Given the description of an element on the screen output the (x, y) to click on. 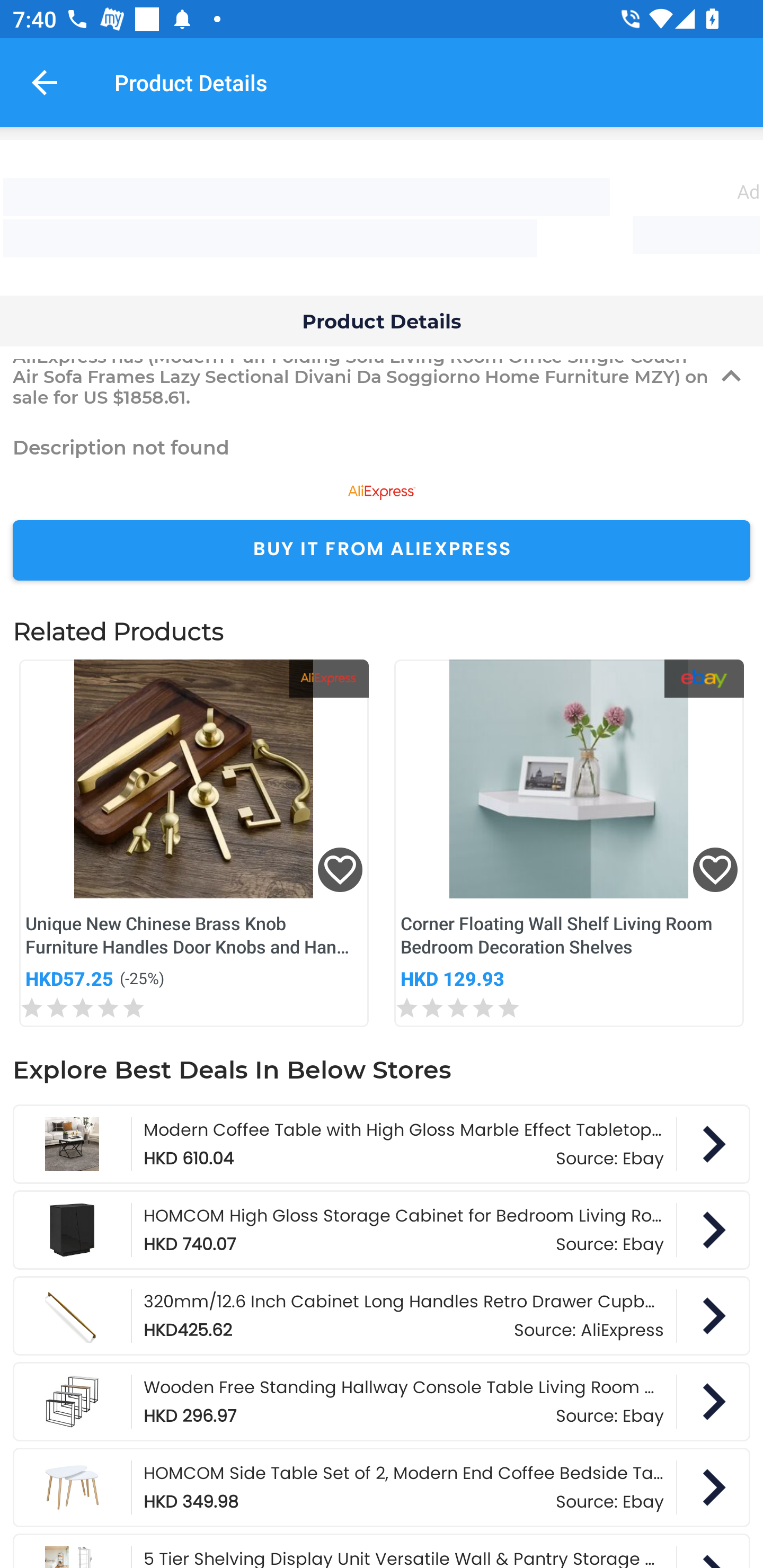
Navigate up (44, 82)
Description not found (381, 446)
BUY IT FROM ALIEXPRESS (381, 550)
